Given the description of an element on the screen output the (x, y) to click on. 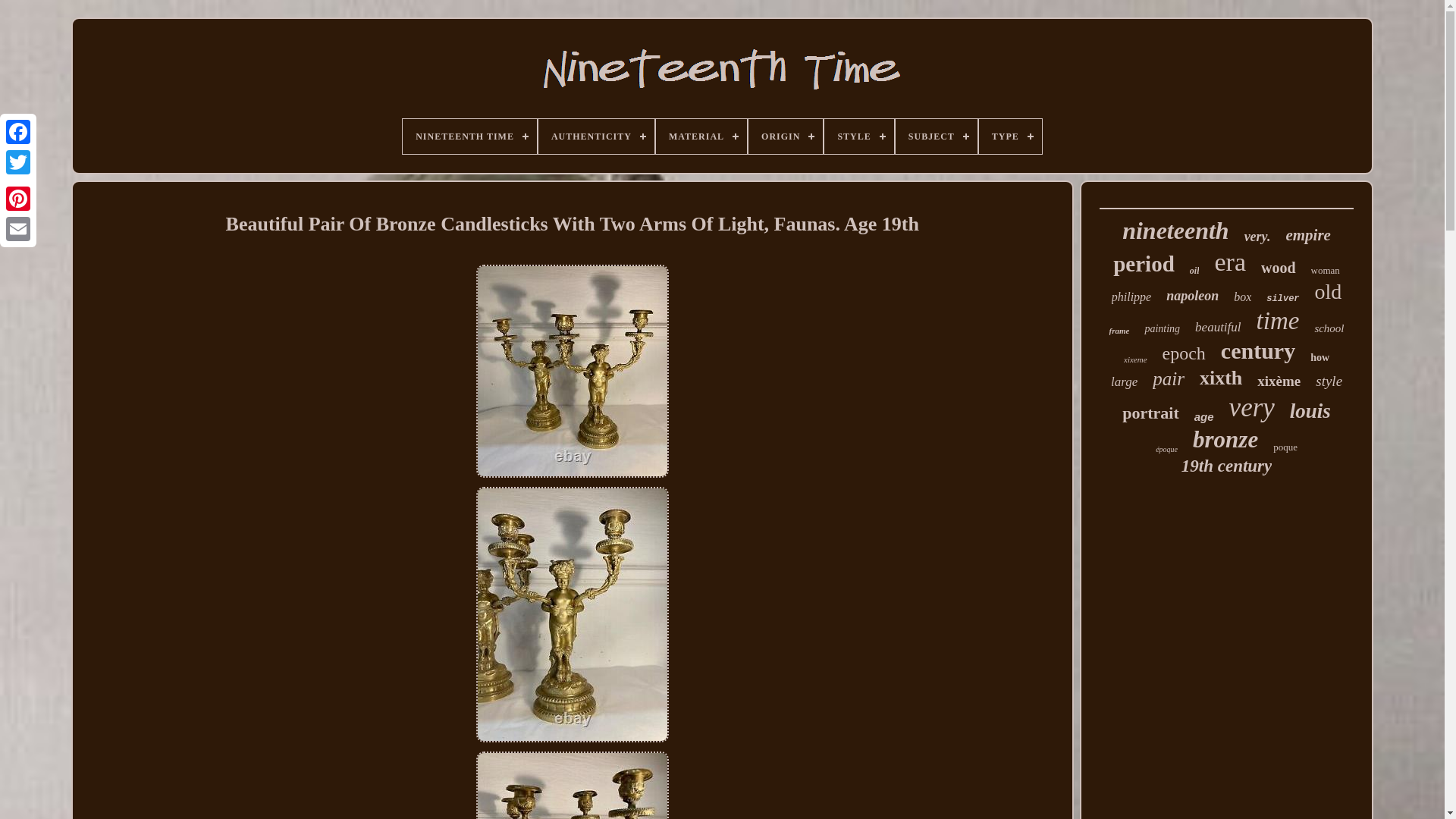
AUTHENTICITY (595, 135)
MATERIAL (701, 135)
NINETEENTH TIME (470, 135)
ORIGIN (785, 135)
Email (17, 228)
